Given the description of an element on the screen output the (x, y) to click on. 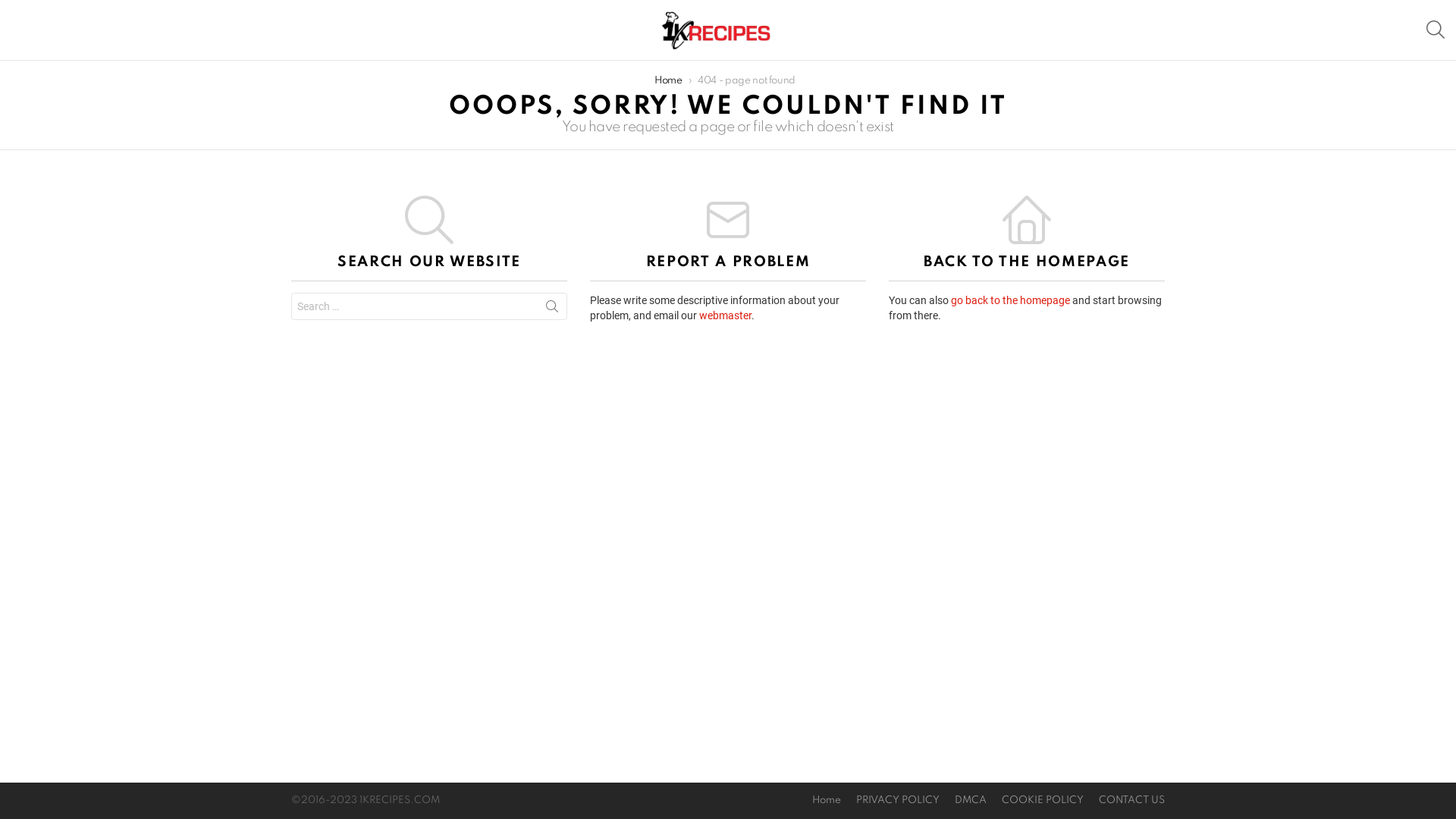
Home Element type: text (826, 800)
PRIVACY POLICY Element type: text (897, 800)
COOKIE POLICY Element type: text (1042, 800)
SEARCH Element type: text (551, 309)
Search for: Element type: hover (429, 306)
CONTACT US Element type: text (1131, 800)
SEARCH Element type: text (1435, 29)
go back to the homepage Element type: text (1010, 300)
webmaster Element type: text (725, 315)
DMCA Element type: text (970, 800)
Home Element type: text (668, 80)
